Given the description of an element on the screen output the (x, y) to click on. 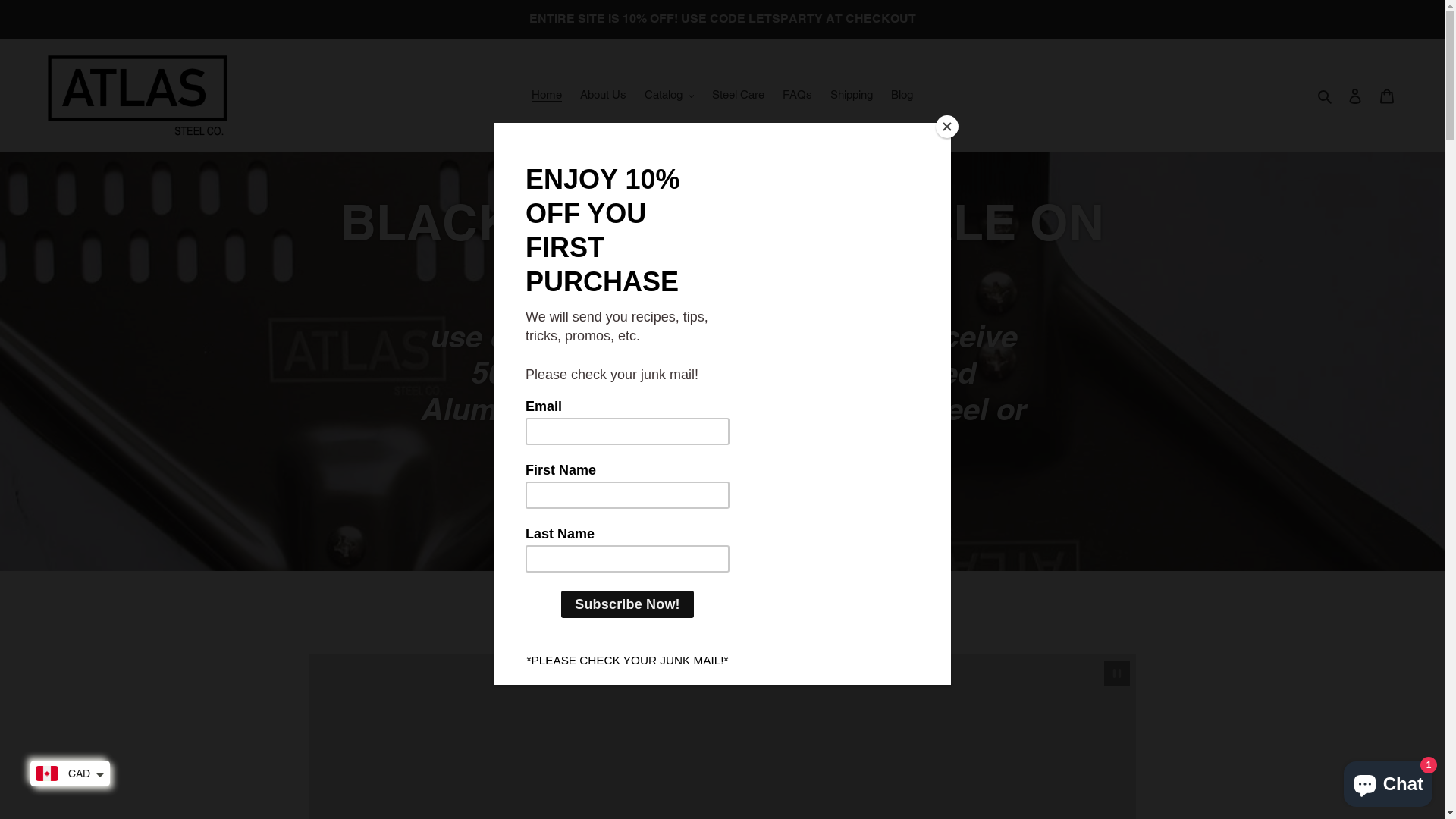
ENTIRE SITE IS 10% OFF! USE CODE LETSPARTY AT CHECKOUT Element type: text (722, 18)
Shipping Element type: text (851, 95)
Shopify online store chat Element type: hover (1388, 780)
SHOP NOW Element type: text (721, 514)
Log in Element type: text (1355, 94)
Search Element type: text (1325, 94)
Cart Element type: text (1386, 94)
Pause [video_title] video Element type: text (1116, 673)
FAQs Element type: text (797, 95)
About Us Element type: text (602, 95)
Catalog Element type: text (669, 95)
Home Element type: text (546, 95)
Blog Element type: text (901, 95)
Steel Care Element type: text (737, 95)
